Given the description of an element on the screen output the (x, y) to click on. 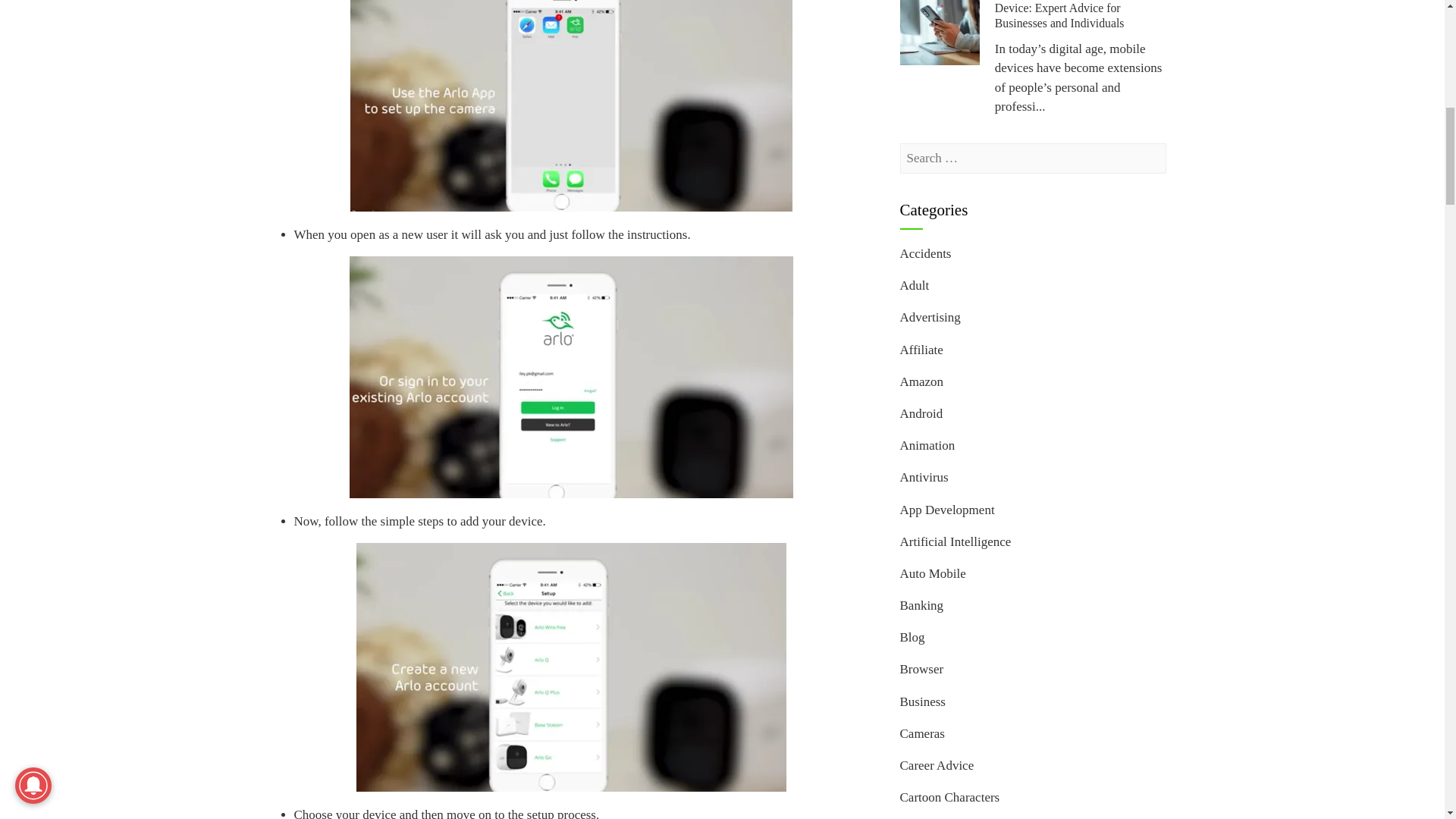
Accidents (924, 253)
Advertising (929, 317)
Adult (913, 285)
